Given the description of an element on the screen output the (x, y) to click on. 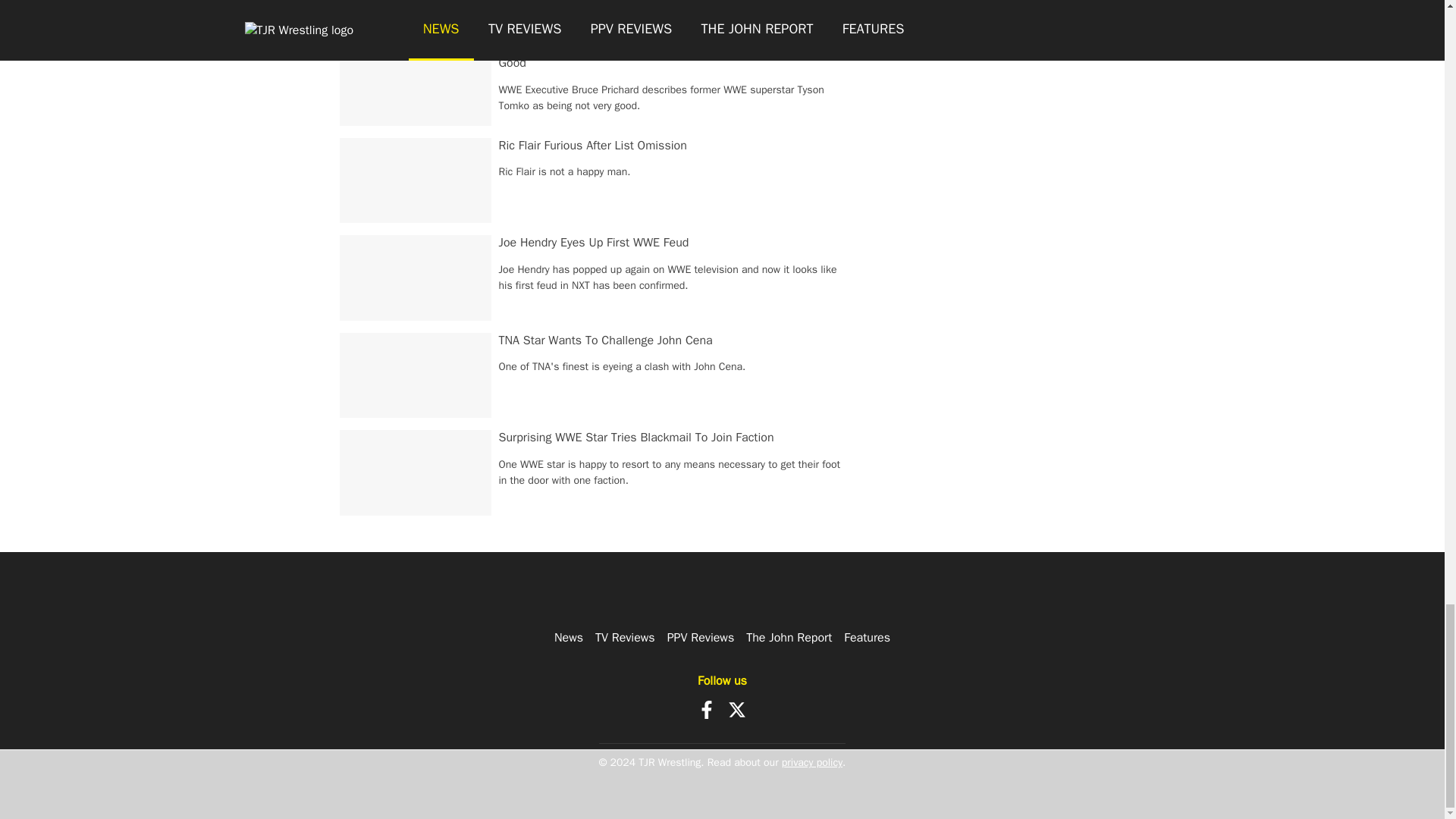
Ric Flair Furious After List Omission (593, 145)
X (736, 710)
Joe Hendry Eyes Up First WWE Feud (593, 242)
Facebook (706, 710)
